Given the description of an element on the screen output the (x, y) to click on. 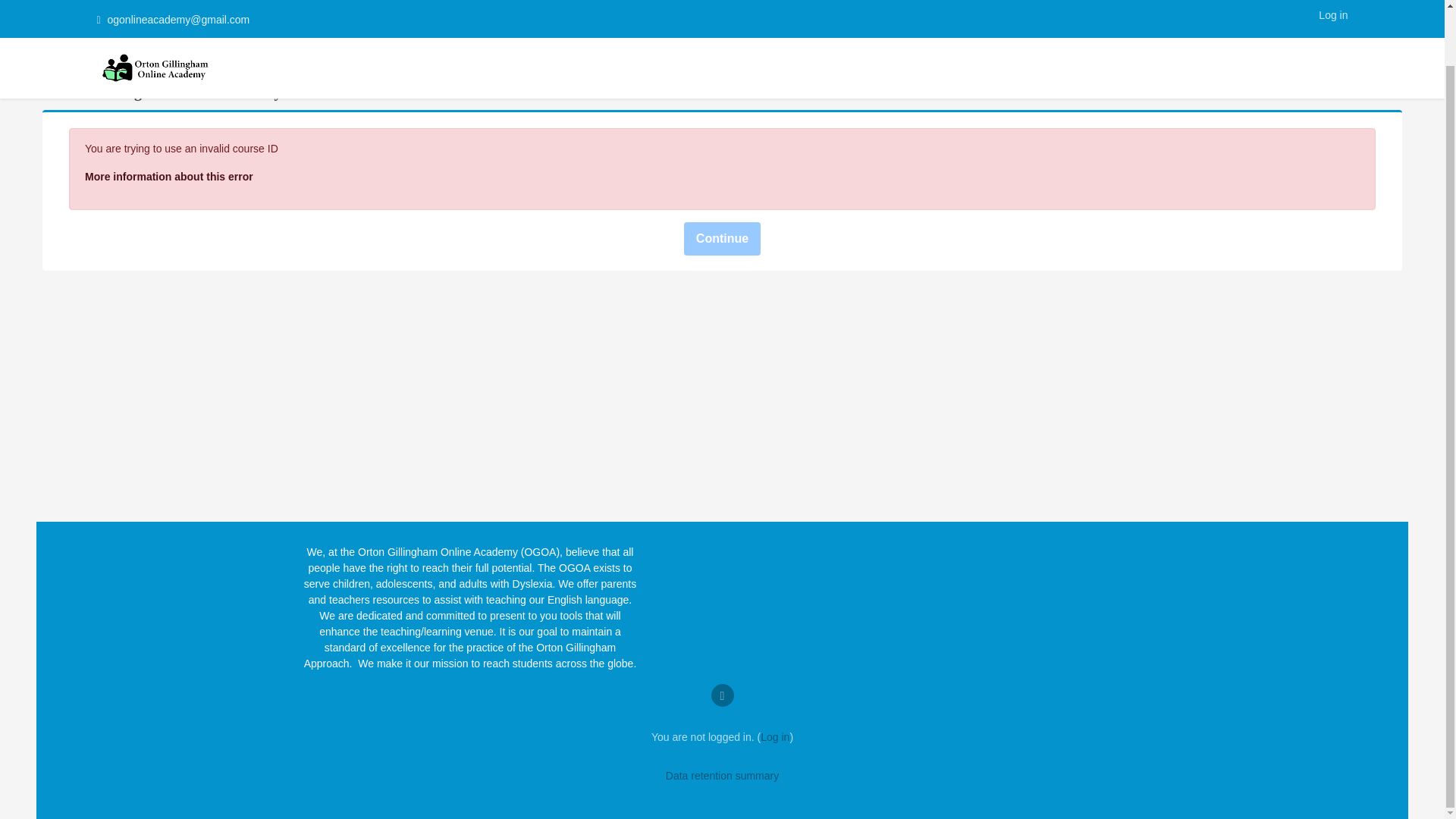
More information about this error (168, 176)
Data retention summary (721, 775)
Log in (774, 736)
Continue (722, 238)
